Given the description of an element on the screen output the (x, y) to click on. 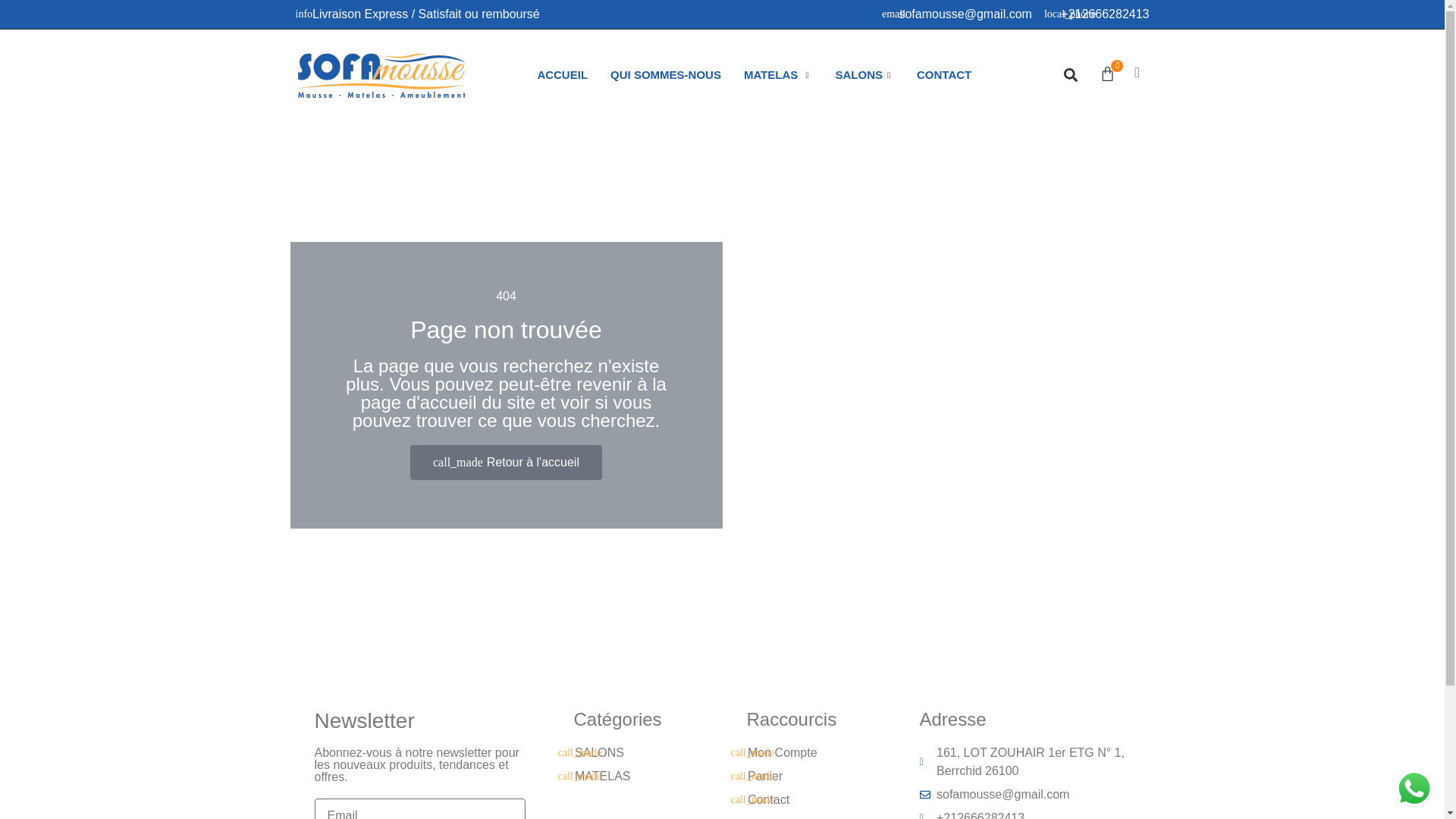
CONTACT (943, 75)
MATELAS  (778, 75)
ACCUEIL (561, 75)
SALONS (864, 75)
Panier (800, 776)
QUI SOMMES-NOUS (665, 75)
Contact (800, 800)
MATELAS (627, 776)
Mon Compte (800, 752)
SALONS (627, 752)
WhatsApp (1413, 788)
0 (1107, 74)
